Given the description of an element on the screen output the (x, y) to click on. 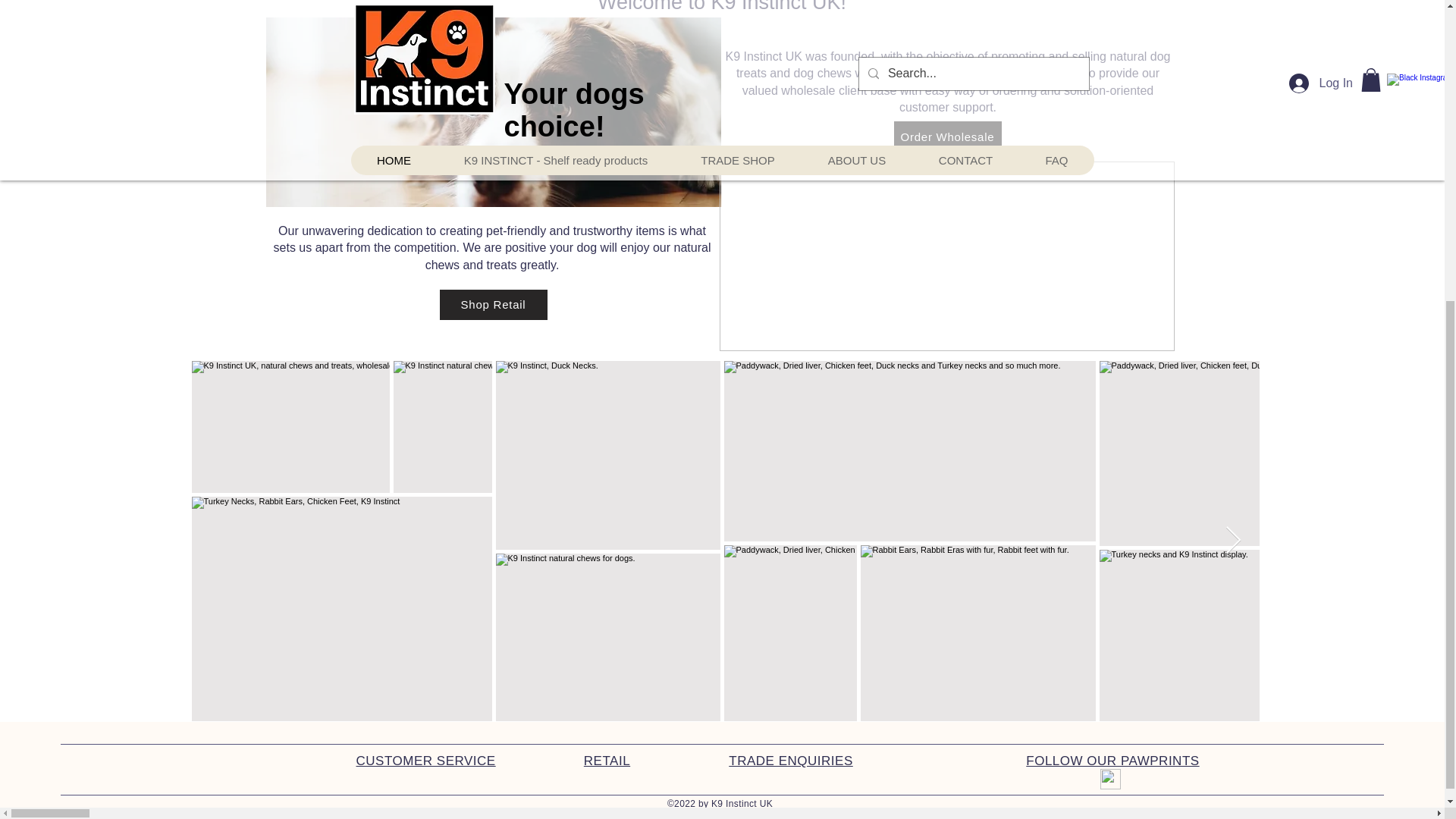
RETAIL (606, 760)
Order Wholesale (947, 136)
FOLLOW OUR PAWPRINTS (1112, 760)
CUSTOMER SERVICE (426, 760)
TRADE ENQUIRIES (791, 760)
Shop Retail (493, 304)
